Given the description of an element on the screen output the (x, y) to click on. 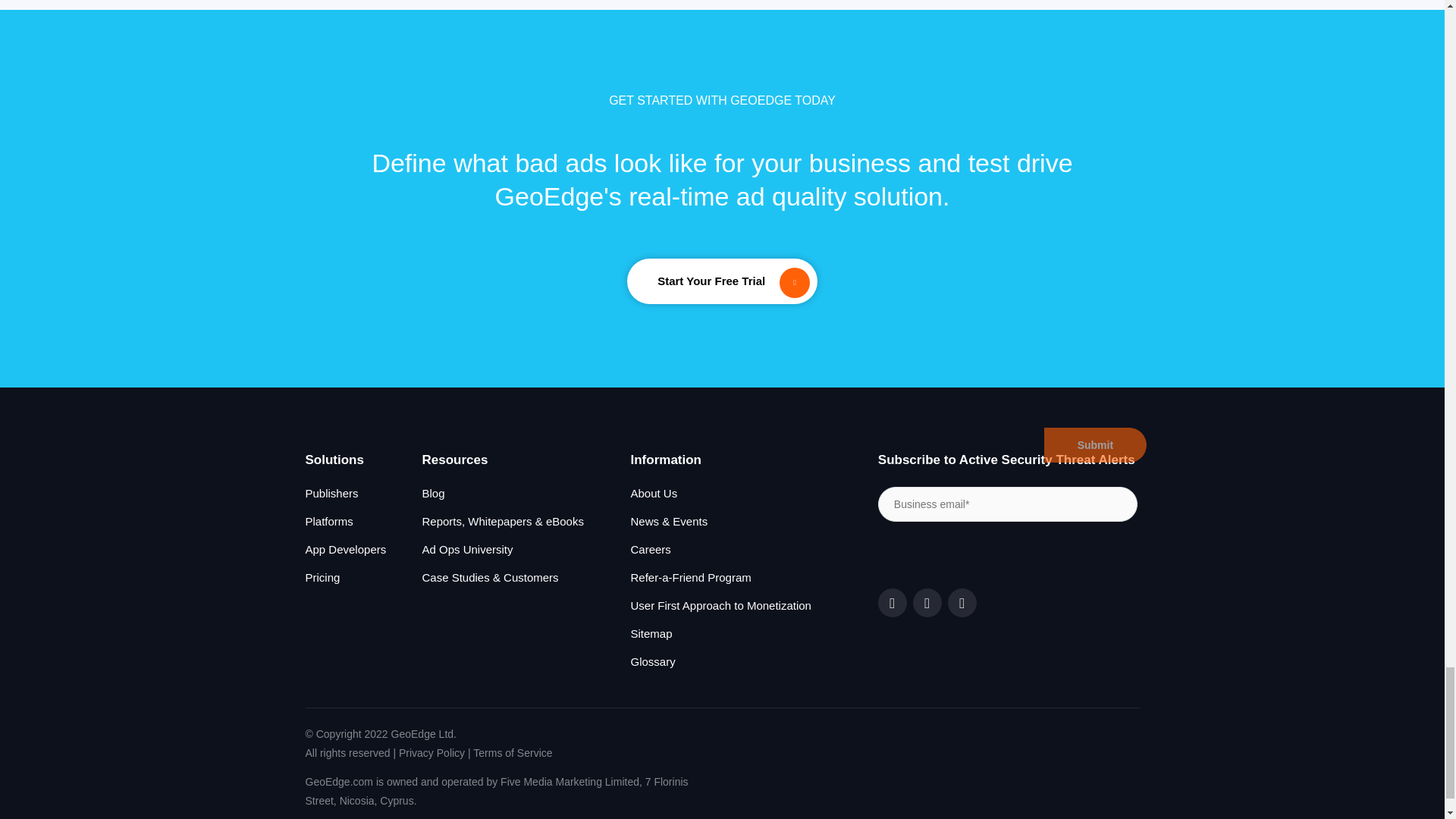
Submit (1095, 444)
